Given the description of an element on the screen output the (x, y) to click on. 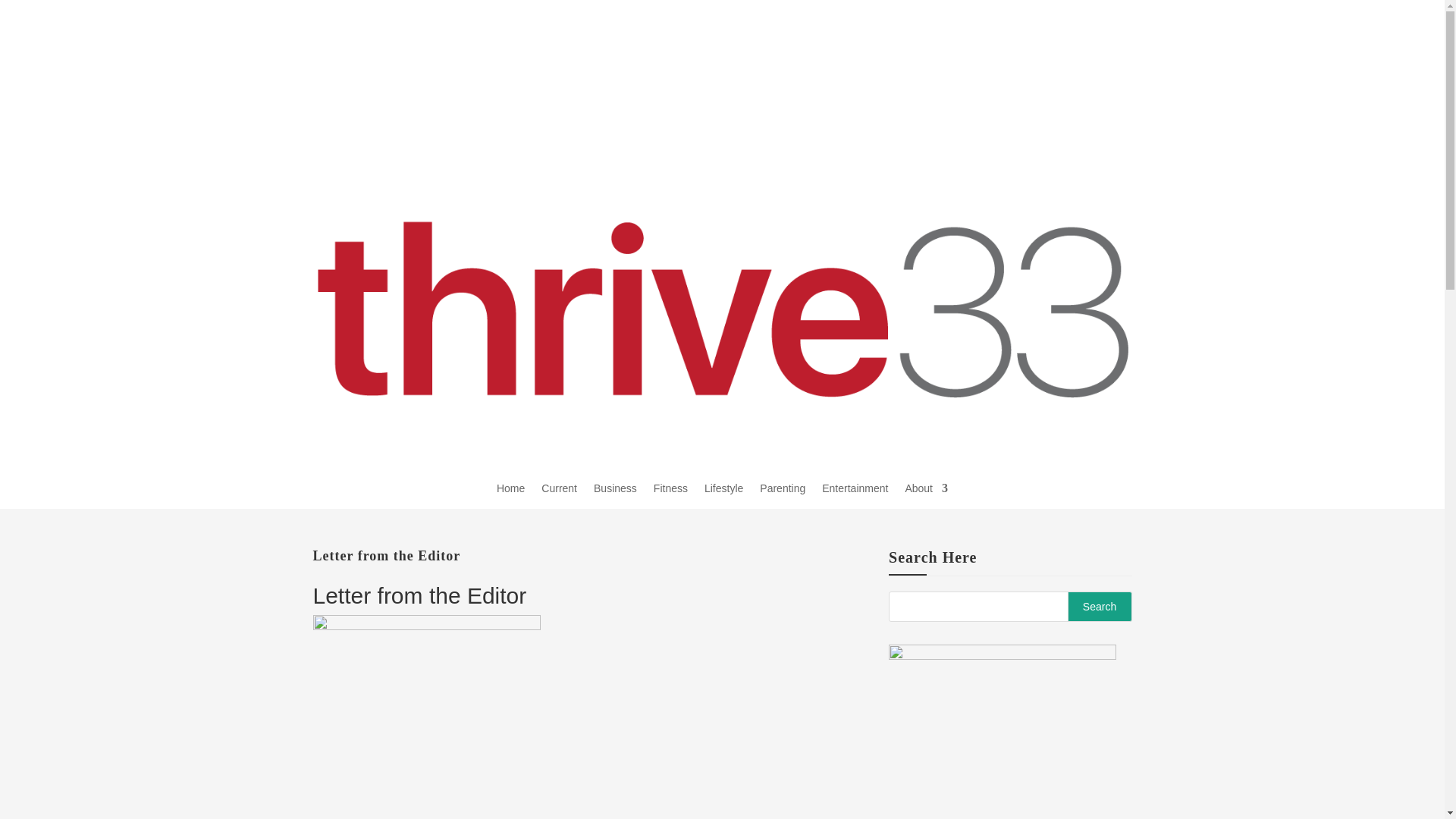
Search (1099, 606)
Lifestyle (723, 487)
Follow on Instagram (900, 73)
Follow on Facebook (930, 73)
Parenting (782, 487)
About (925, 487)
Search (1099, 606)
Business (615, 487)
Entertainment (855, 487)
Follow on X (961, 73)
